Given the description of an element on the screen output the (x, y) to click on. 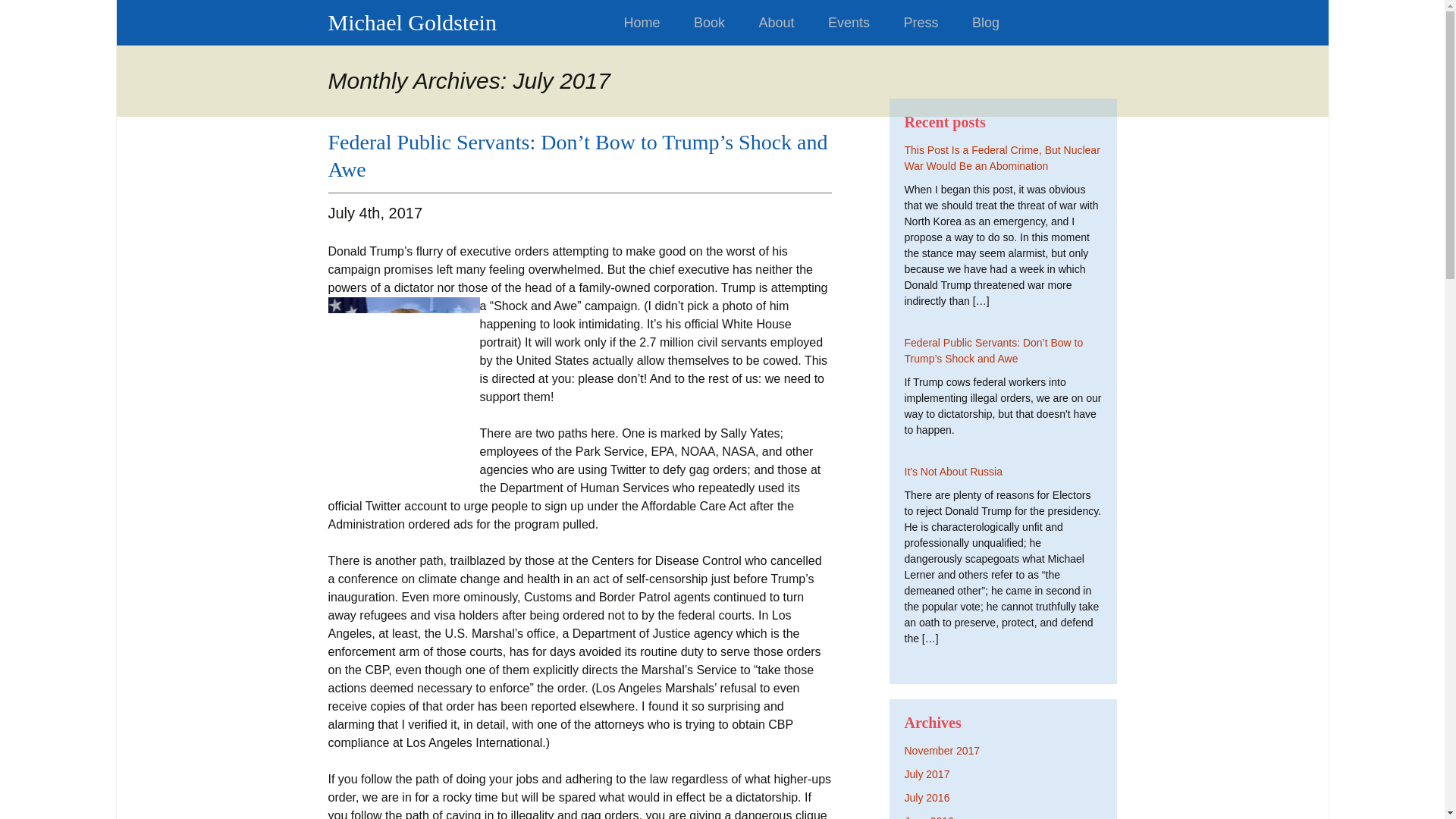
Book (708, 22)
June 2016 (928, 816)
Search (18, 15)
It's Not About Russia (953, 471)
Events (848, 22)
Contact (646, 67)
About (775, 22)
It's Not About Russia (953, 471)
Michael Goldstein (464, 20)
